Given the description of an element on the screen output the (x, y) to click on. 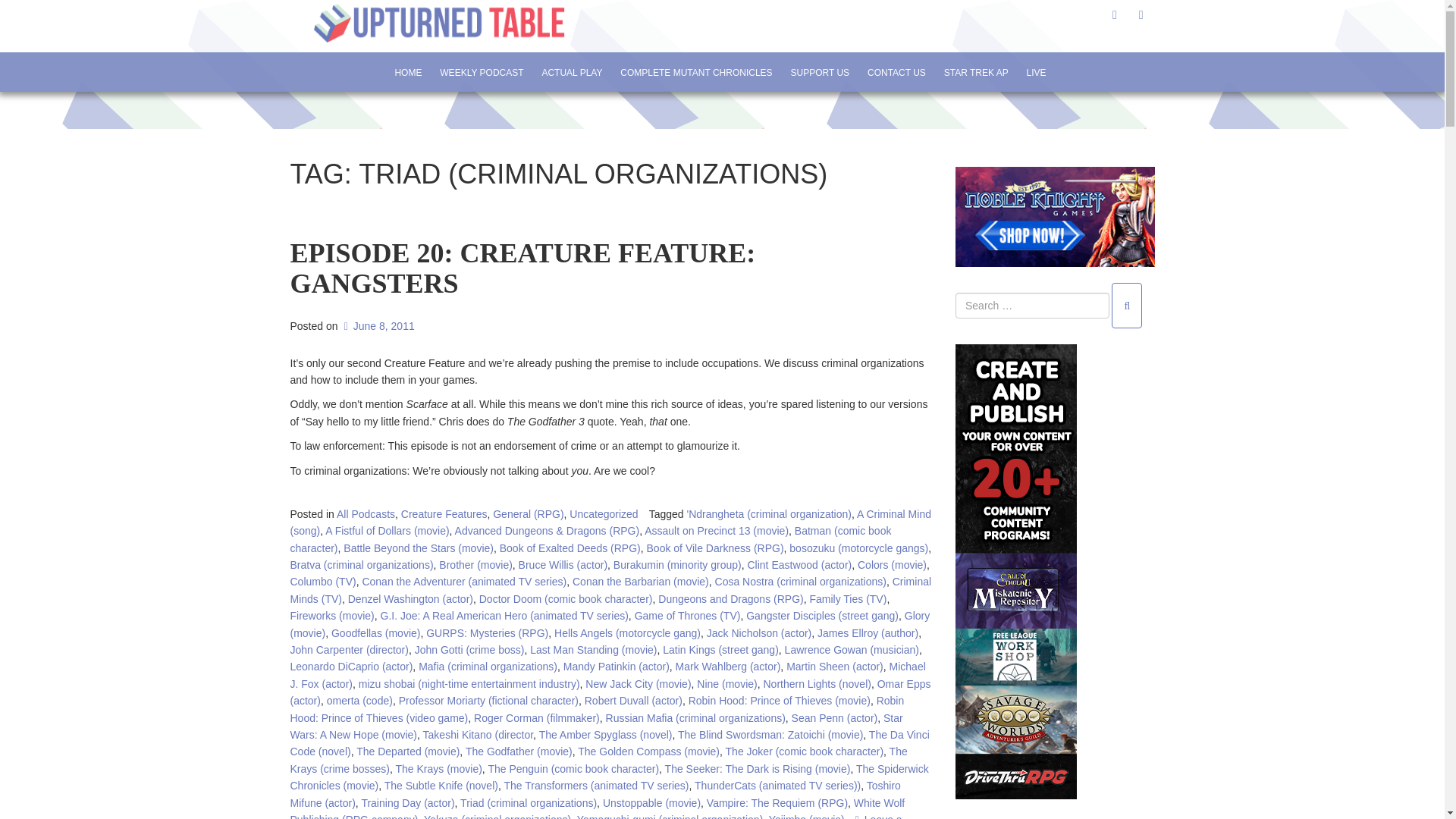
Uncategorized (603, 513)
COMPLETE MUTANT CHRONICLES (695, 72)
ACTUAL PLAY (571, 72)
June 8, 2011 (376, 326)
Creature Features (444, 513)
LIVE (1036, 72)
SUPPORT US (820, 72)
EPISODE 20: CREATURE FEATURE: GANGSTERS (522, 281)
HOME (407, 72)
CONTACT US (896, 72)
STAR TREK AP (975, 72)
INSTAGRAM (1141, 14)
WEEKLY PODCAST (481, 72)
All Podcasts (365, 513)
TWITTER (1114, 14)
